Given the description of an element on the screen output the (x, y) to click on. 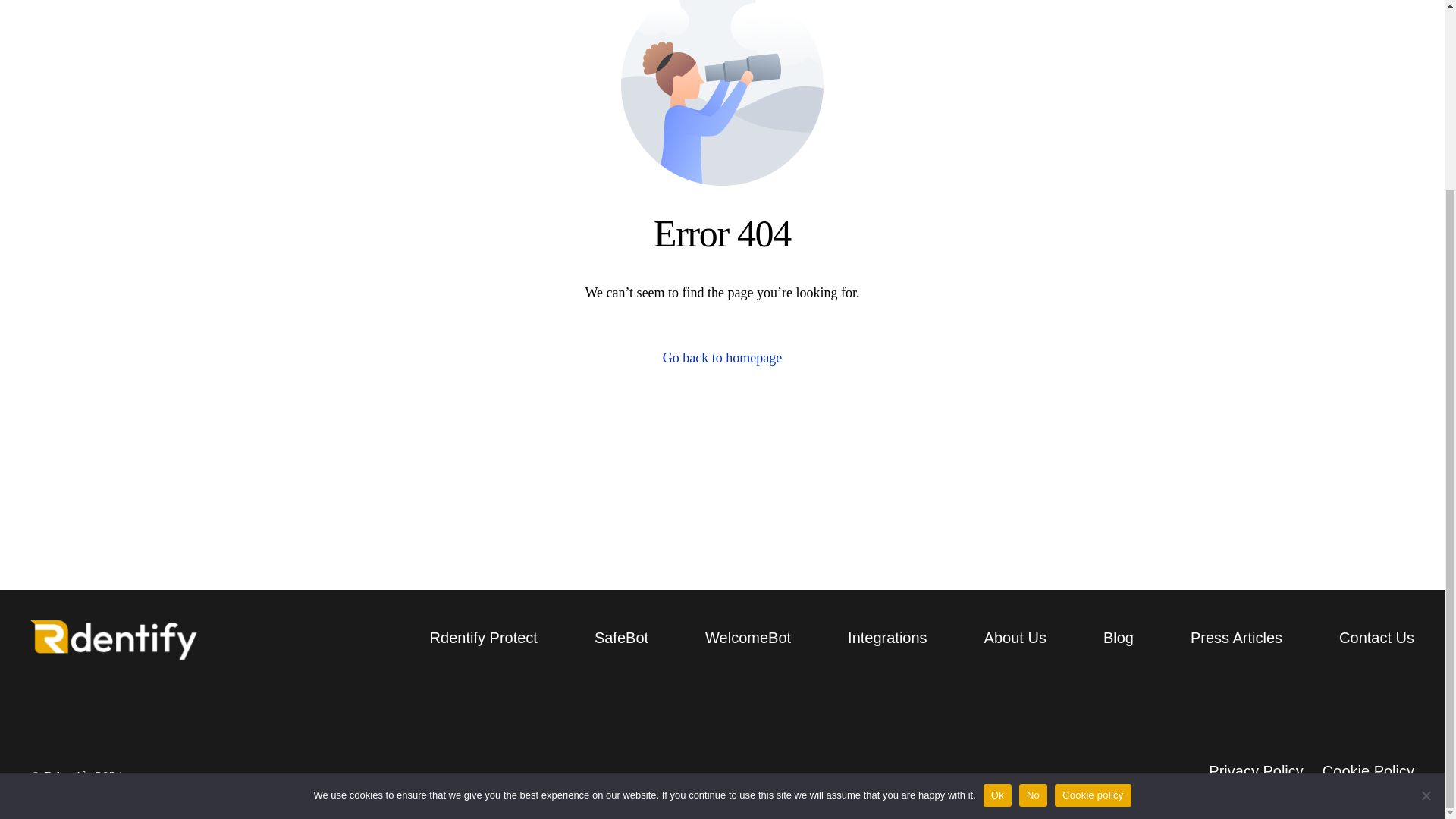
No (1425, 557)
